Given the description of an element on the screen output the (x, y) to click on. 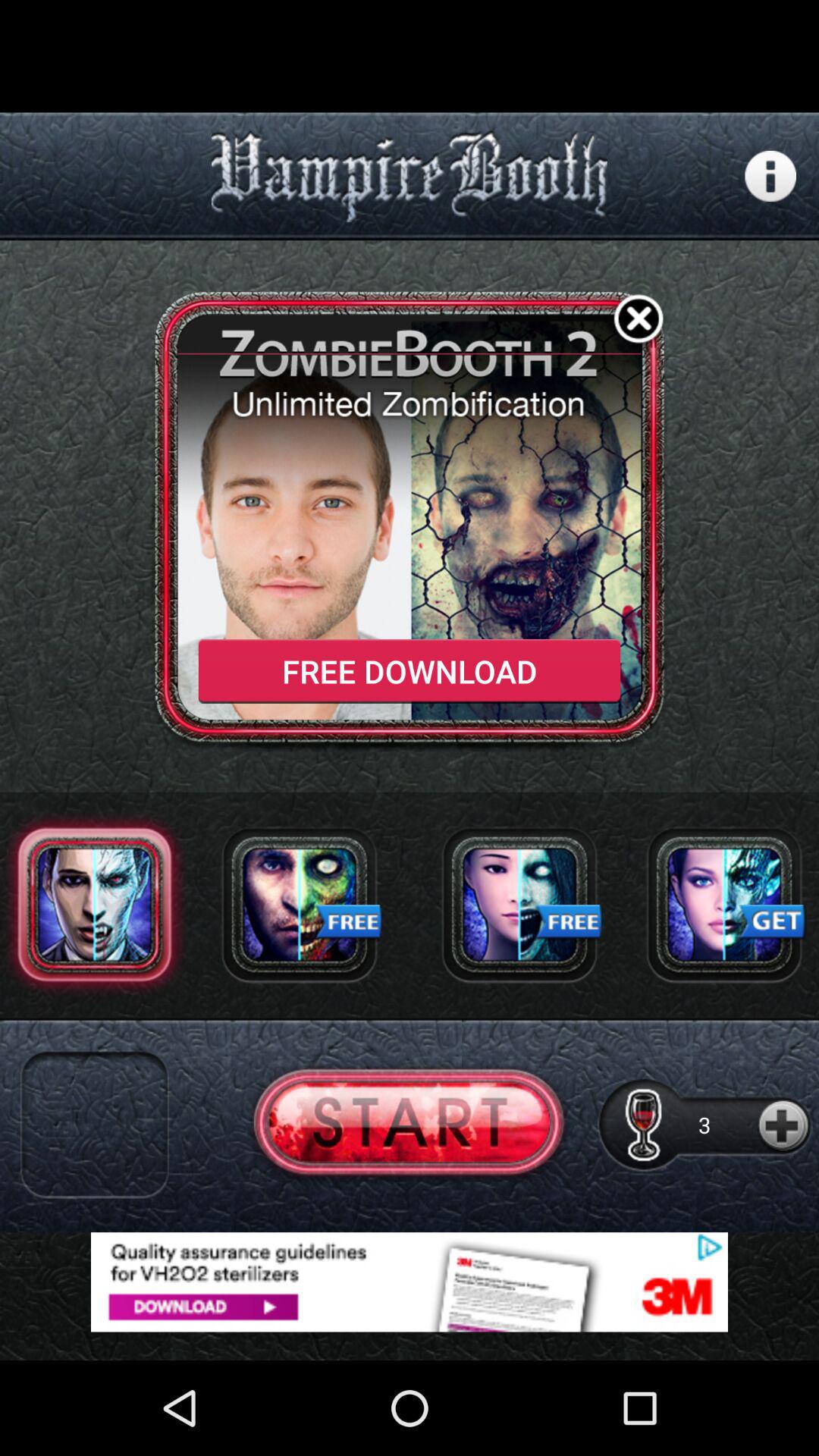
open button (409, 1124)
